Given the description of an element on the screen output the (x, y) to click on. 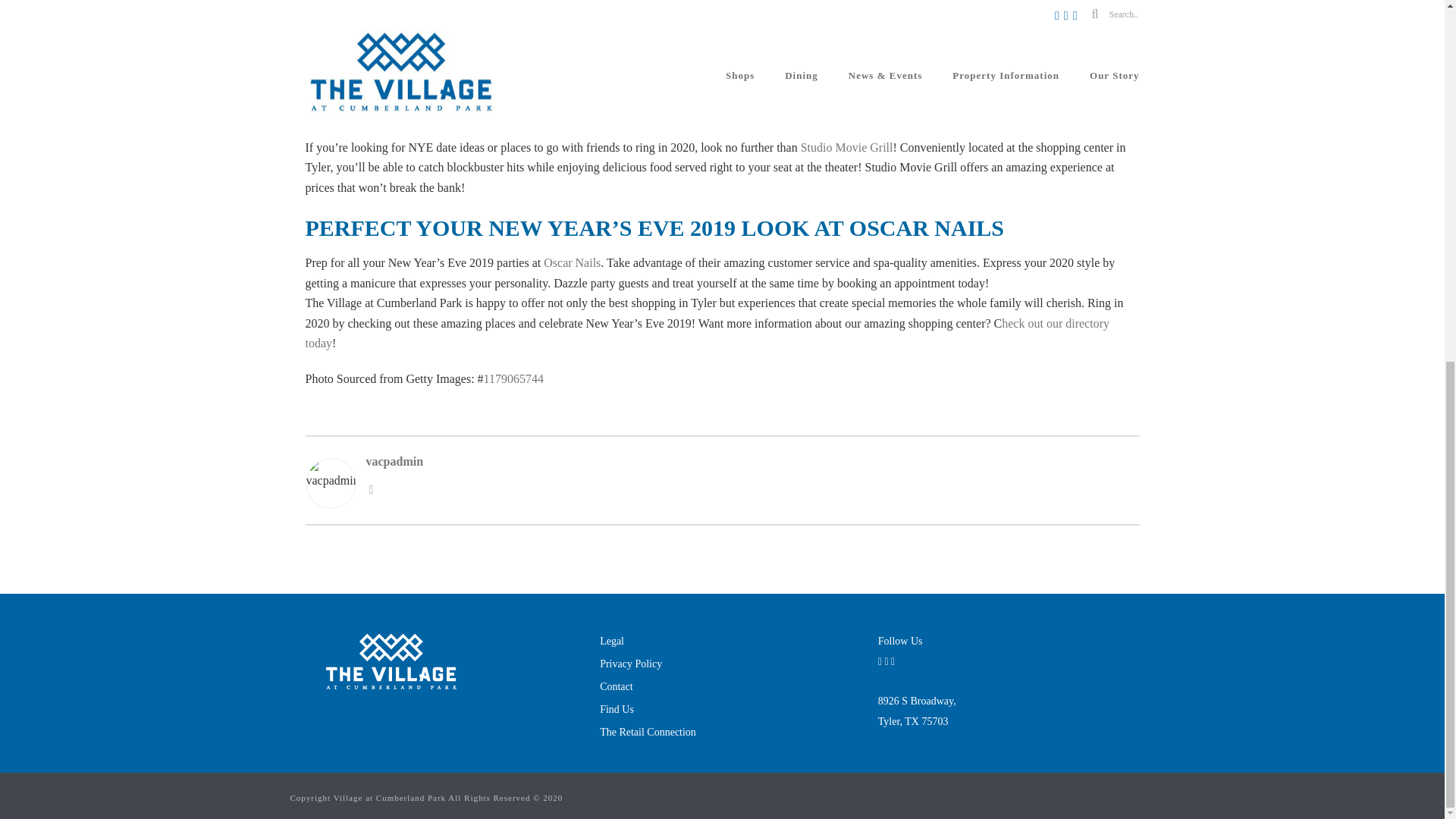
The Retail Connection (647, 731)
Urban Air Trampoline Park (459, 31)
Legal (611, 641)
Find Us (616, 709)
Oscar Nails (571, 262)
heck out our directory today (706, 333)
Studio Movie Grill (846, 146)
vacpadmin (916, 711)
Privacy Policy (751, 462)
